Given the description of an element on the screen output the (x, y) to click on. 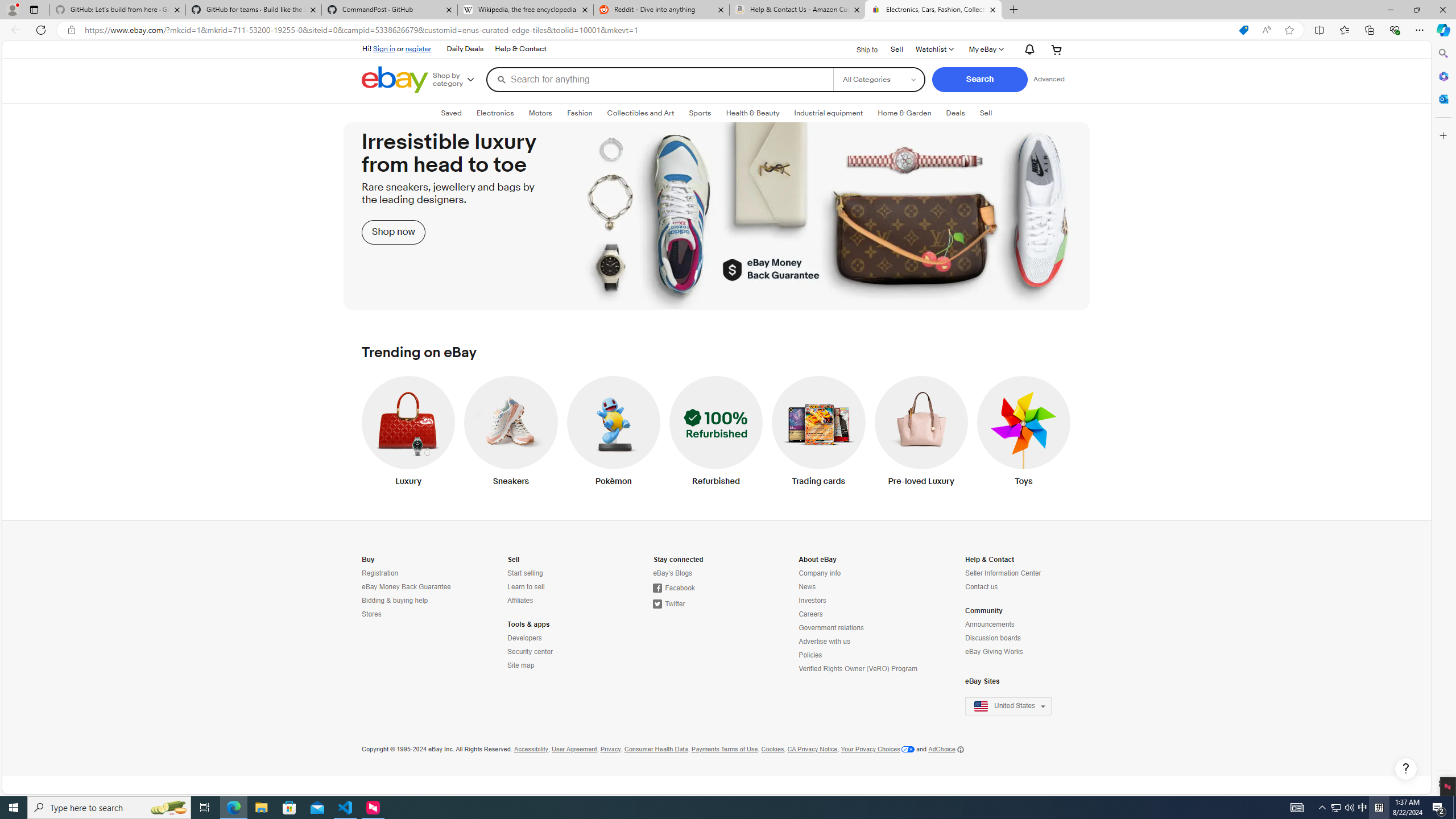
Investors (812, 600)
Registration (379, 573)
eBay Home (394, 79)
eBay Home (394, 79)
Watchlist (933, 49)
Seller Information Center (1015, 573)
Advanced Search (1048, 78)
Developers (557, 638)
Seller Information Center (1003, 573)
eBay's Blogs (672, 573)
Pre-loved Luxury (920, 433)
Toys (1023, 433)
